Given the description of an element on the screen output the (x, y) to click on. 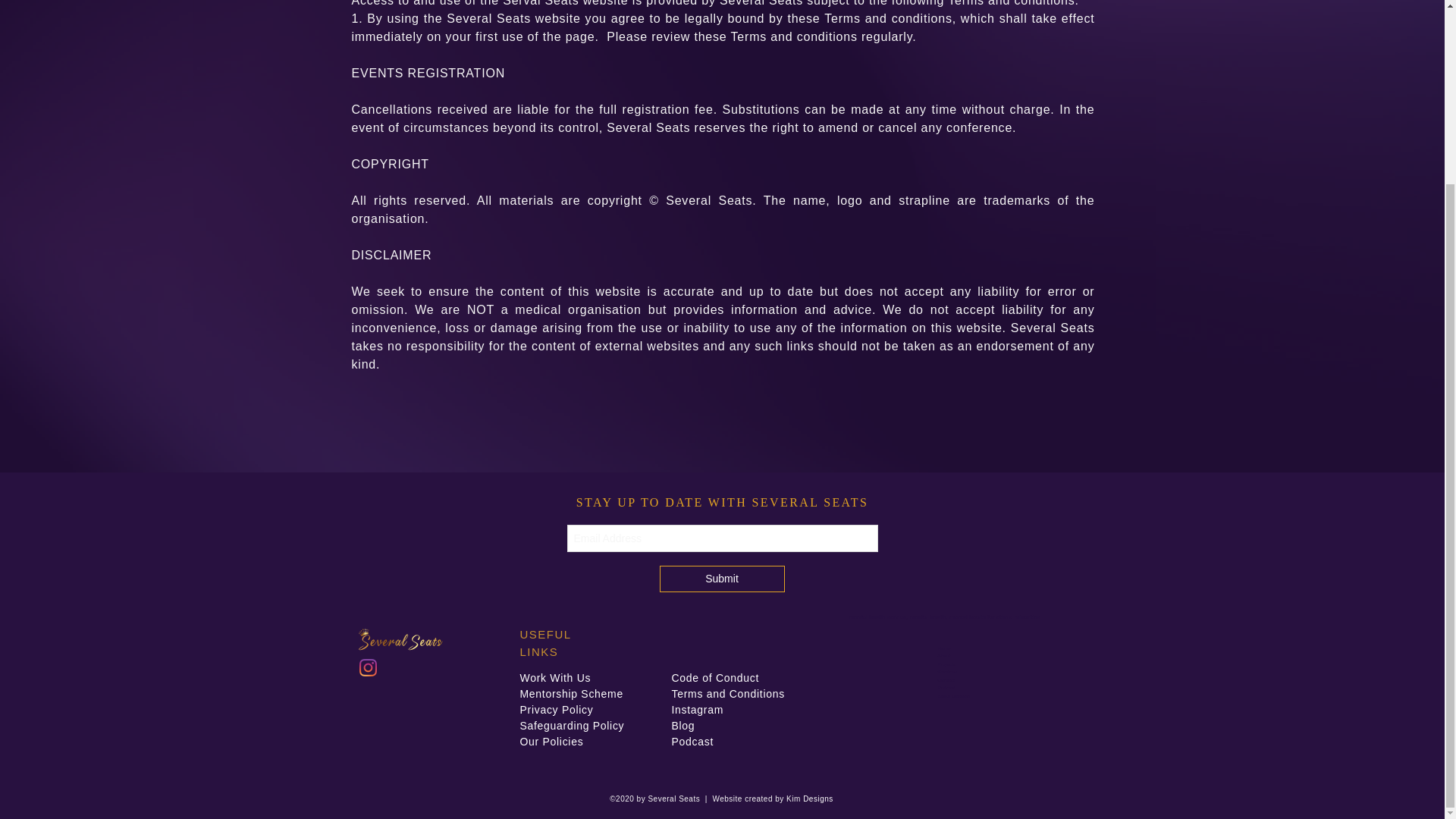
Work With Us (555, 677)
Projects  (946, 663)
Contact (946, 680)
Several Seats (708, 200)
Mentorship Scheme (571, 693)
Instagram (697, 709)
Podcast (946, 687)
Submit (721, 578)
Terms and Conditions (727, 693)
conference. (979, 127)
Services (946, 671)
Kim Designs (808, 798)
Blogs Channel (953, 695)
Code of Conduct (715, 677)
Home  (944, 648)
